Given the description of an element on the screen output the (x, y) to click on. 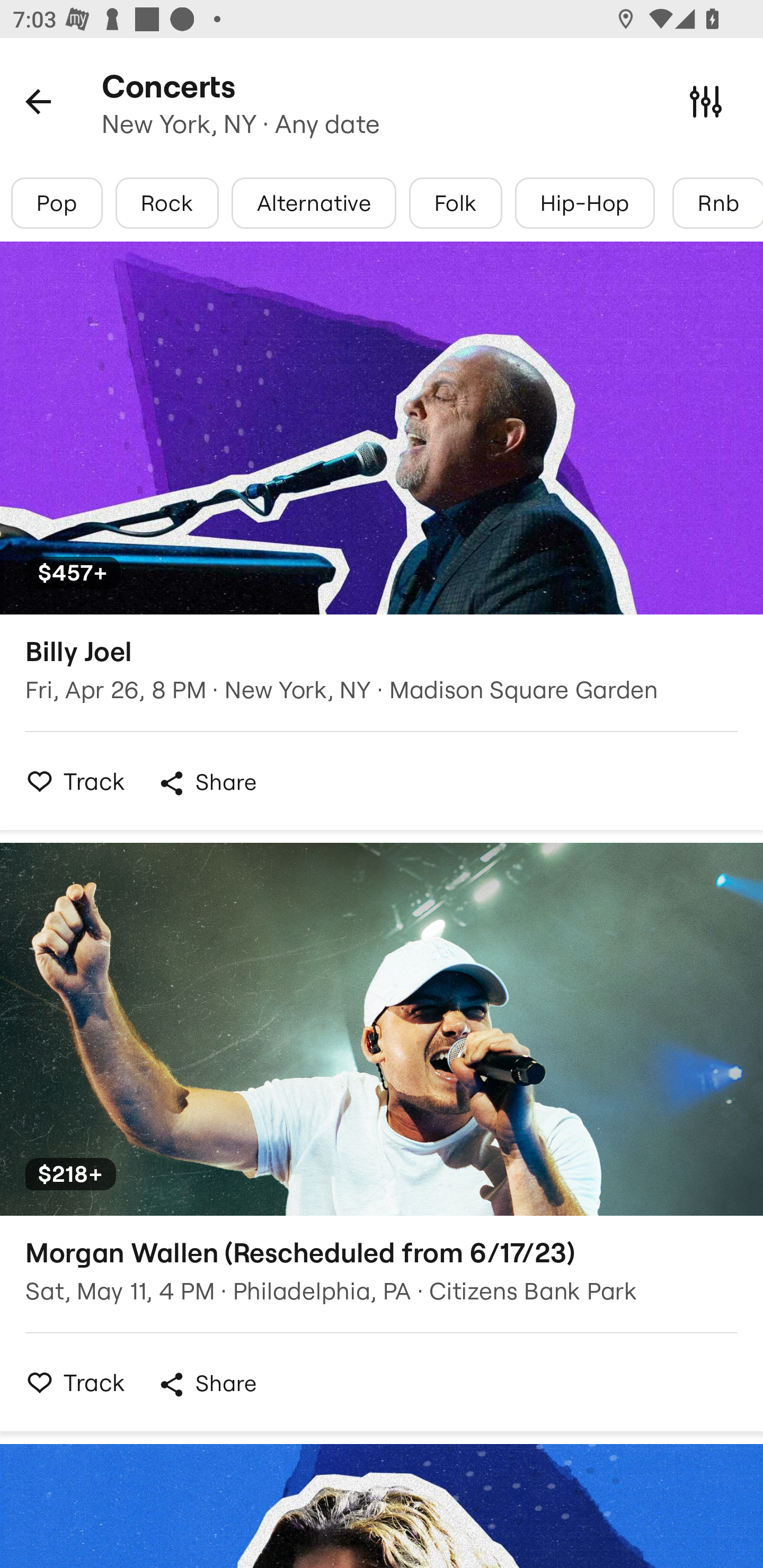
Back (38, 100)
Filters (705, 100)
Pop (57, 202)
Rock (166, 202)
Alternative (313, 202)
Folk (455, 202)
Hip-Hop (584, 202)
Rnb (717, 202)
Track (70, 780)
Share (207, 783)
Track (70, 1381)
Share (207, 1384)
